Given the description of an element on the screen output the (x, y) to click on. 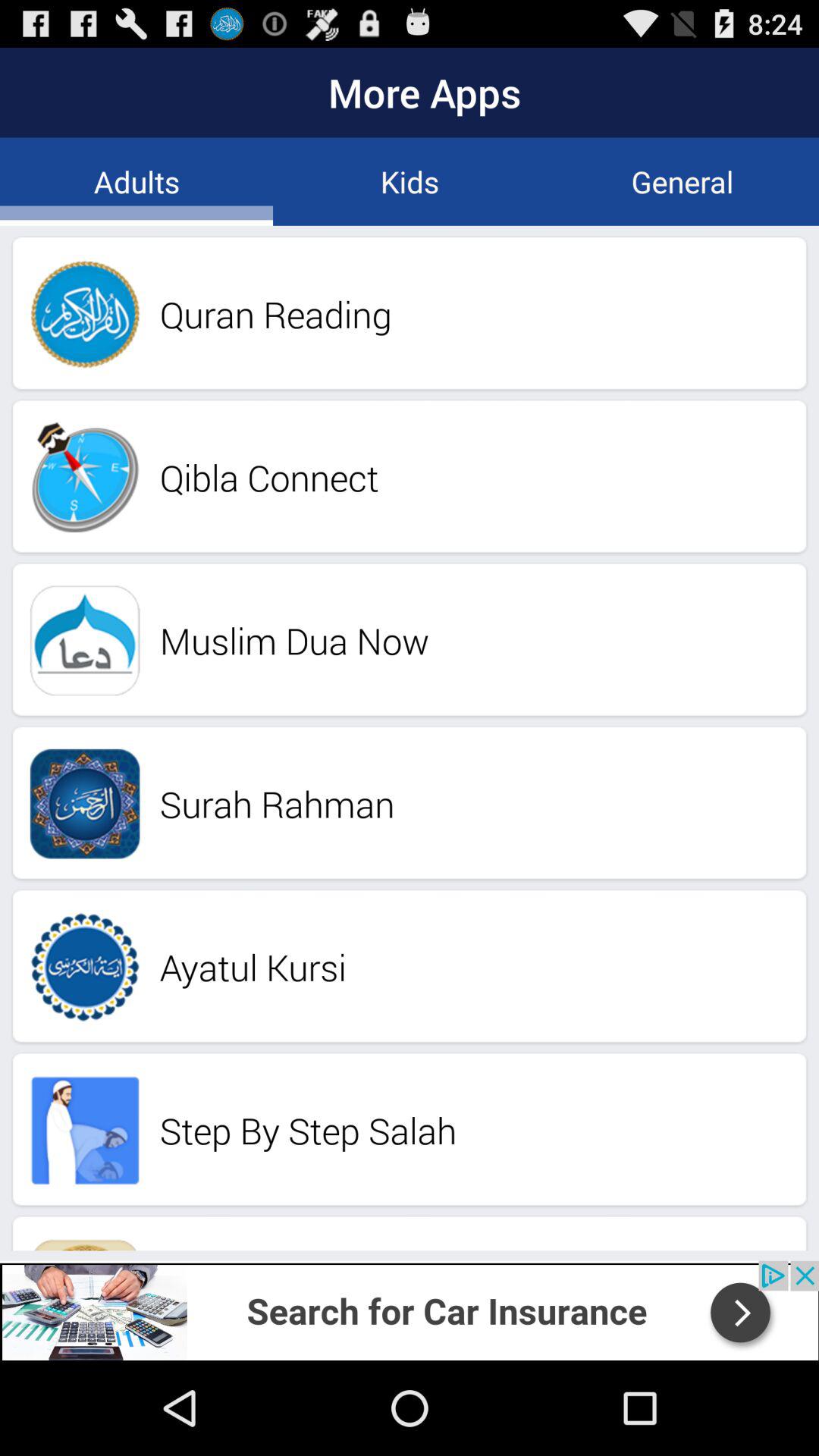
advertisement (409, 1310)
